Given the description of an element on the screen output the (x, y) to click on. 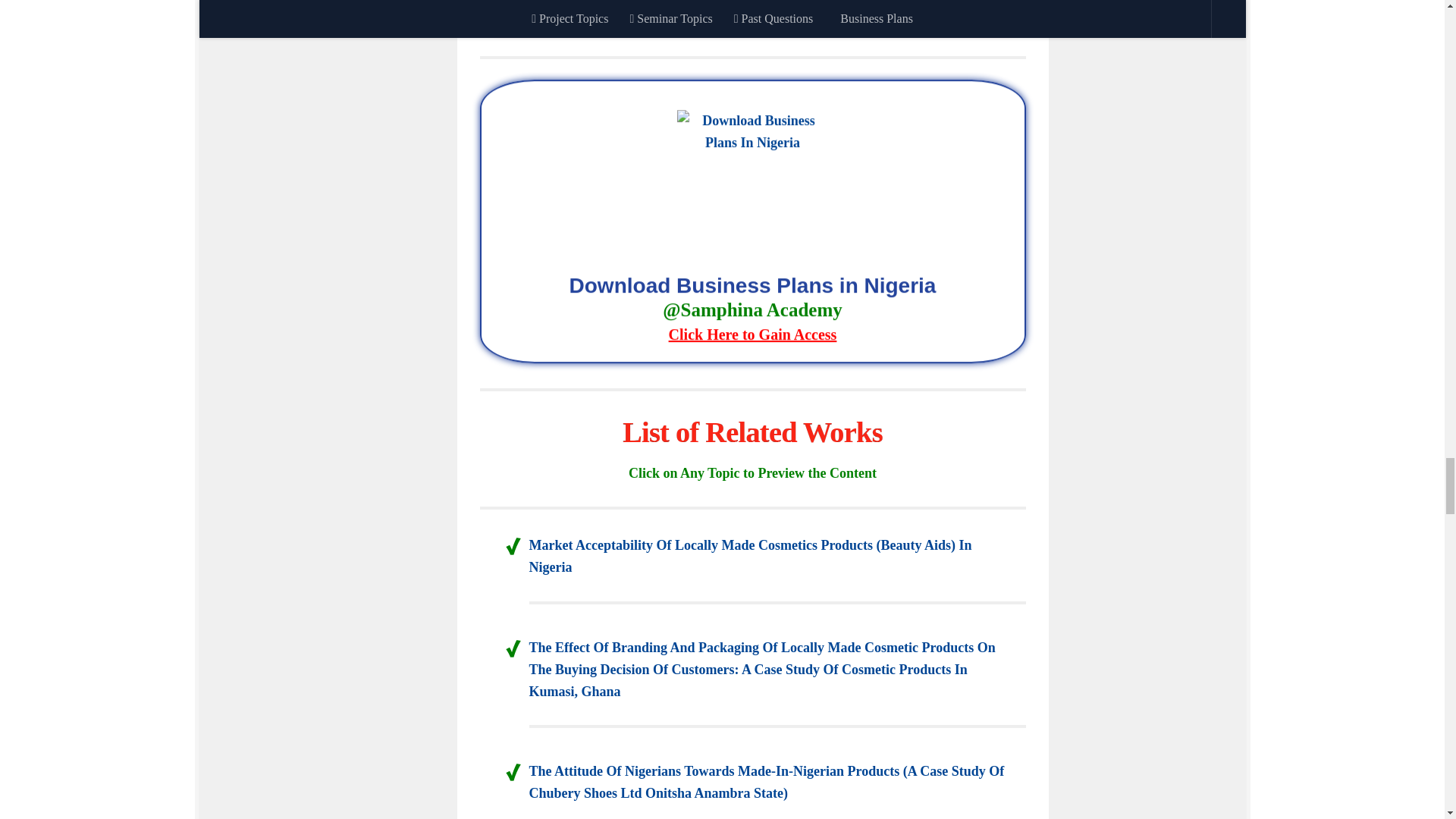
Search (984, 2)
Search (984, 2)
Download Business Plans in Nigeria (752, 312)
Search (984, 1)
